Given the description of an element on the screen output the (x, y) to click on. 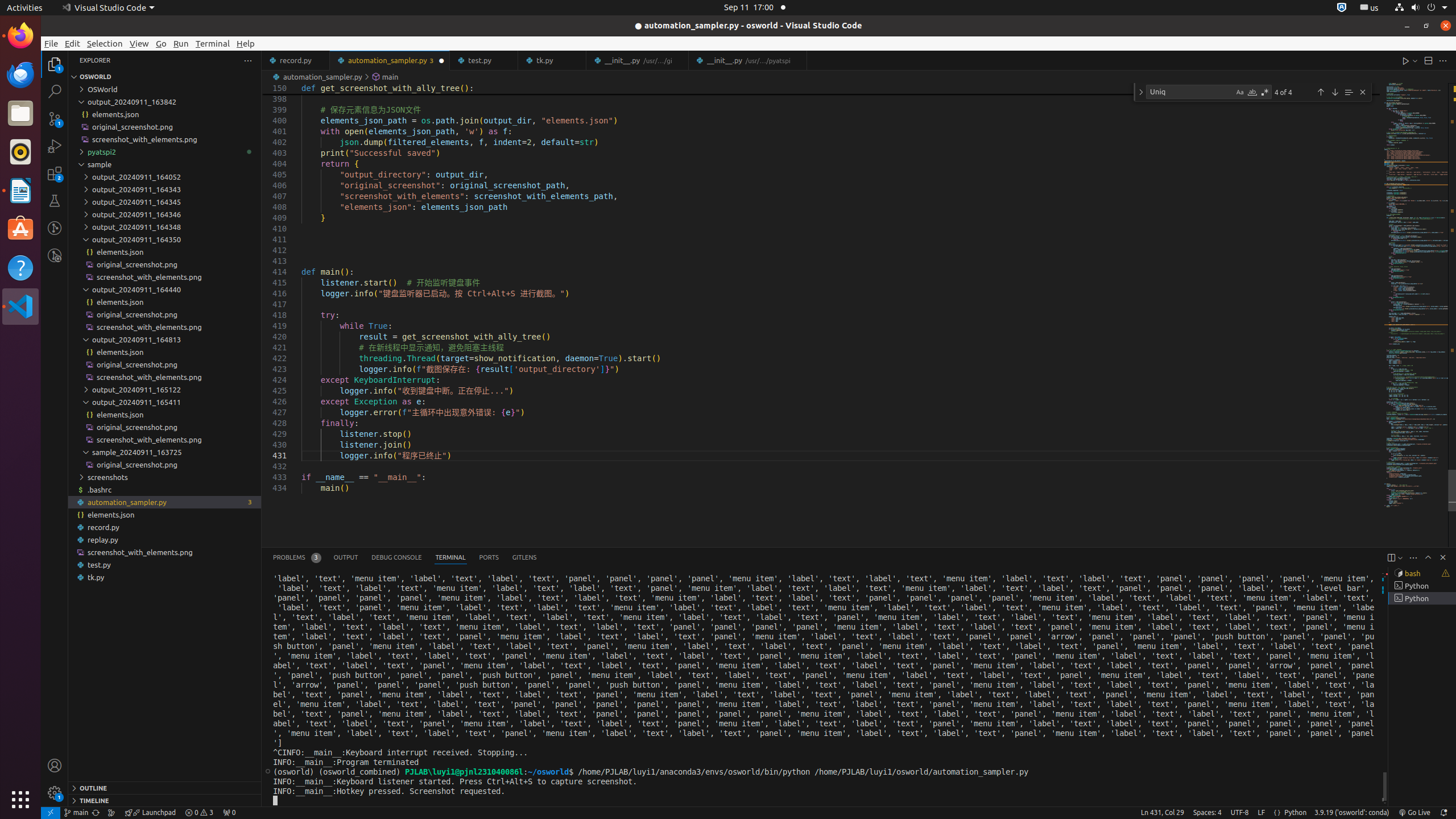
def get_screenshot_with_ally_tree(): Element type: list-item (840, 88)
Go Element type: push-button (161, 43)
Files Explorer Element type: tree (164, 432)
Run Python File Element type: push-button (1405, 60)
pyatspi2 Element type: tree-item (164, 151)
